Given the description of an element on the screen output the (x, y) to click on. 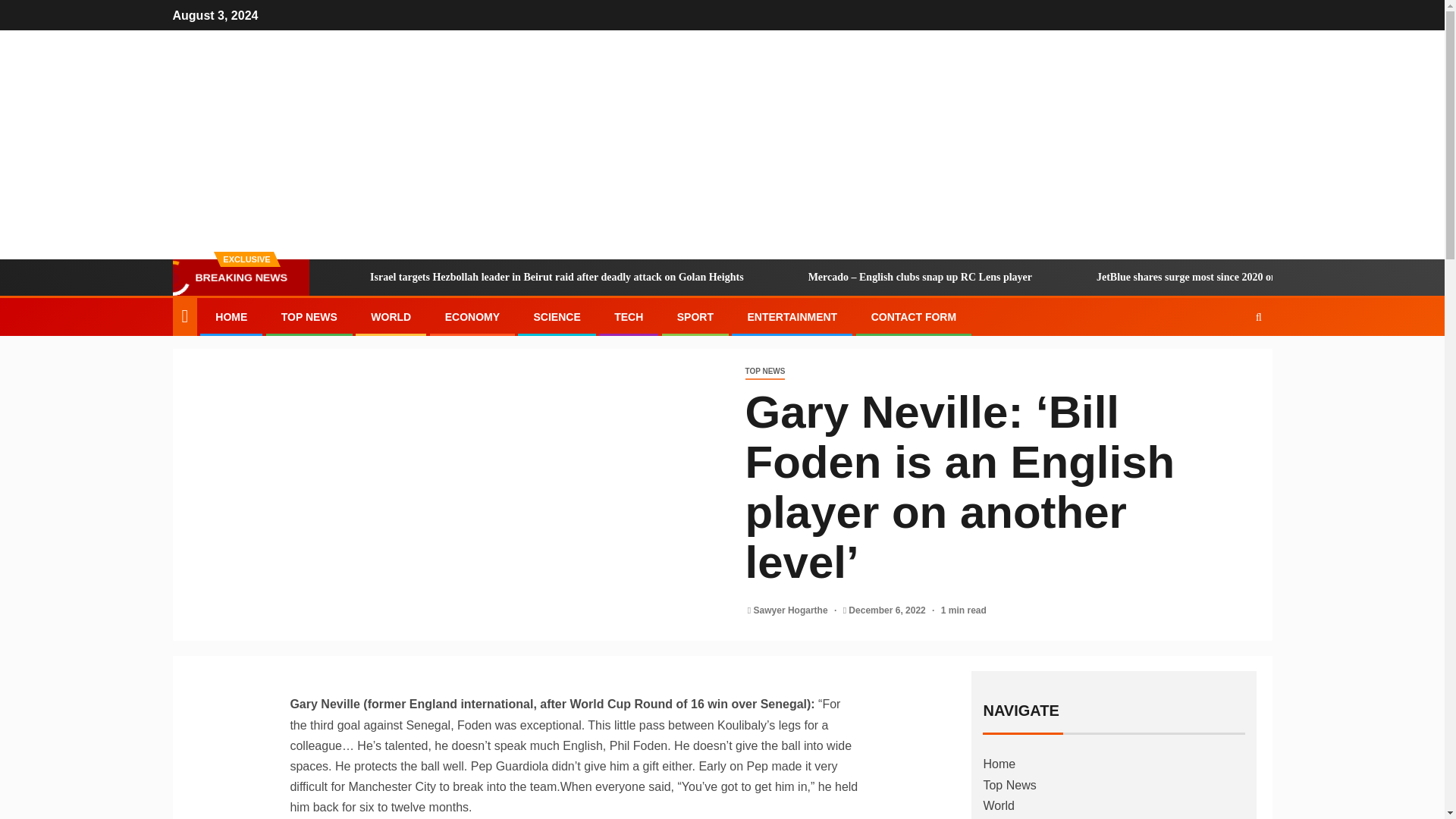
Search (1229, 362)
HOME (231, 316)
Sawyer Hogarthe (791, 610)
TECH (628, 316)
WORLD (390, 316)
ECONOMY (472, 316)
TOP NEWS (764, 371)
CONTACT FORM (913, 316)
